Given the description of an element on the screen output the (x, y) to click on. 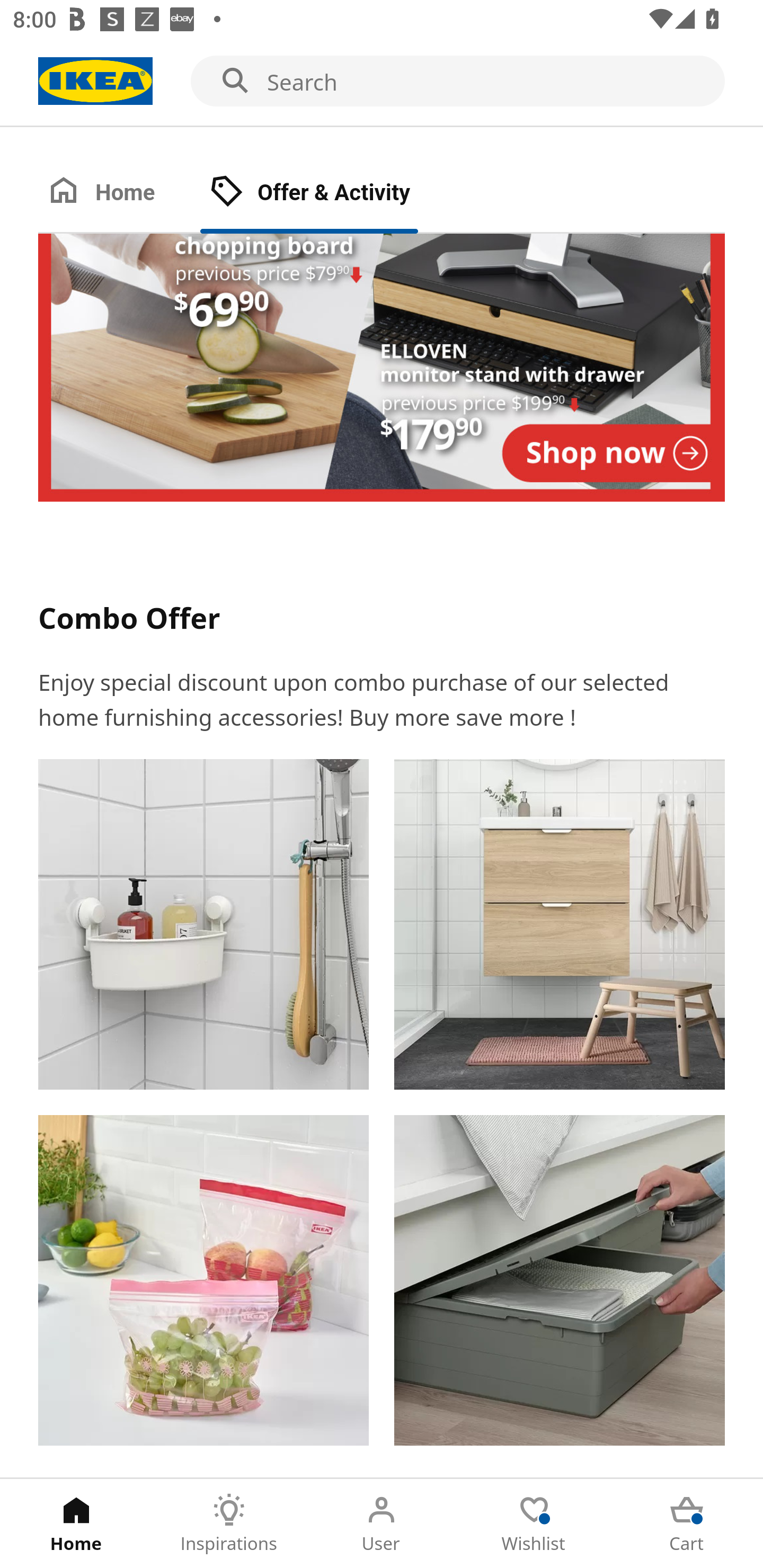
Search (381, 81)
Home
Tab 1 of 2 (118, 192)
Offer & Activity
Tab 2 of 2 (327, 192)
Home
Tab 1 of 5 (76, 1522)
Inspirations
Tab 2 of 5 (228, 1522)
User
Tab 3 of 5 (381, 1522)
Wishlist
Tab 4 of 5 (533, 1522)
Cart
Tab 5 of 5 (686, 1522)
